Given the description of an element on the screen output the (x, y) to click on. 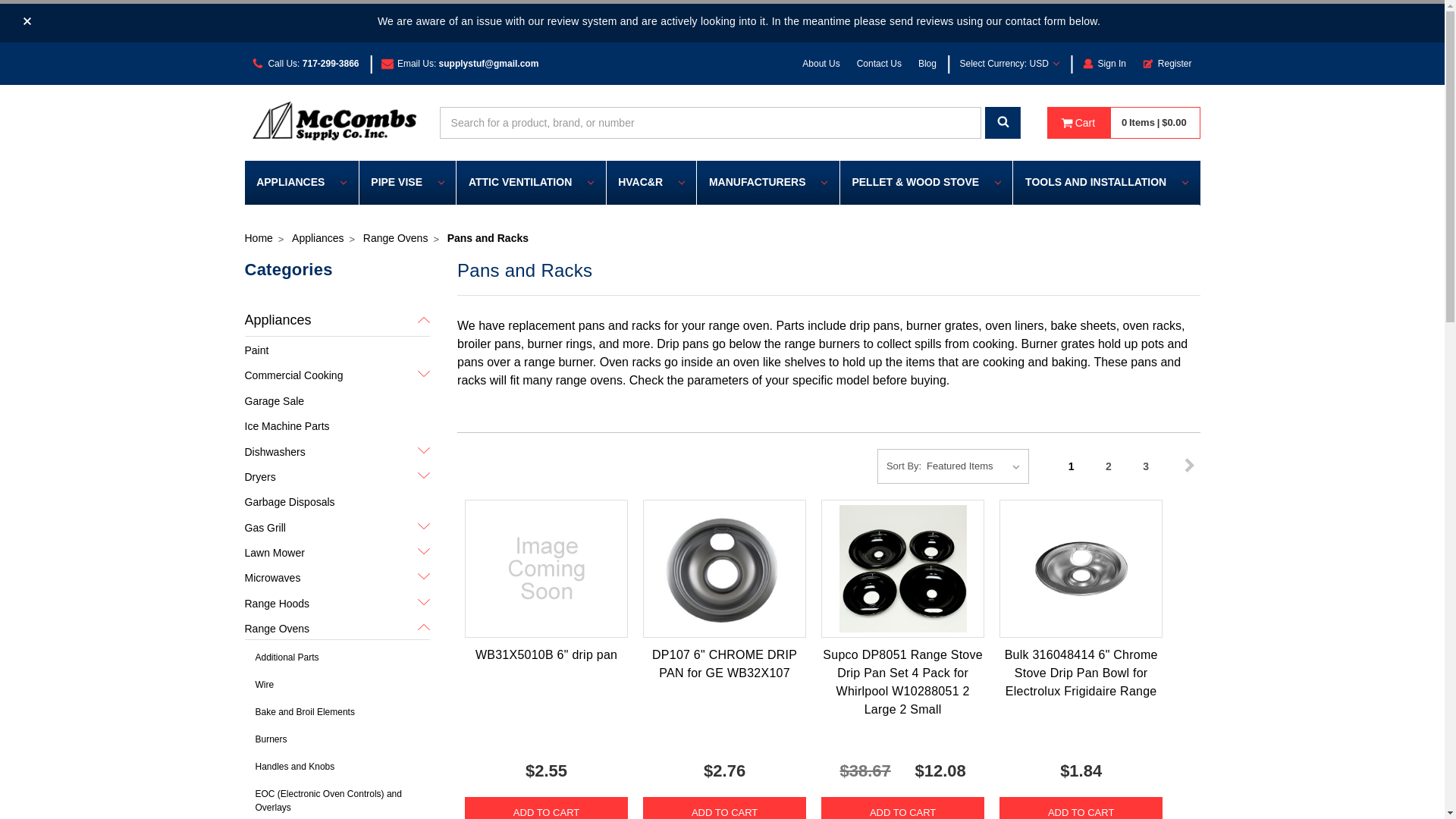
Call Us: 717-299-3866 (305, 63)
Ice Machine Parts (336, 424)
About Us (820, 63)
McCombs Supply Co Inc (337, 122)
Paint (336, 348)
Contact Us (879, 63)
Garage Sale (336, 398)
Dishwashers (336, 449)
Commercial Cooking (336, 373)
Blog (927, 63)
Select Currency: USD (1008, 63)
